Given the description of an element on the screen output the (x, y) to click on. 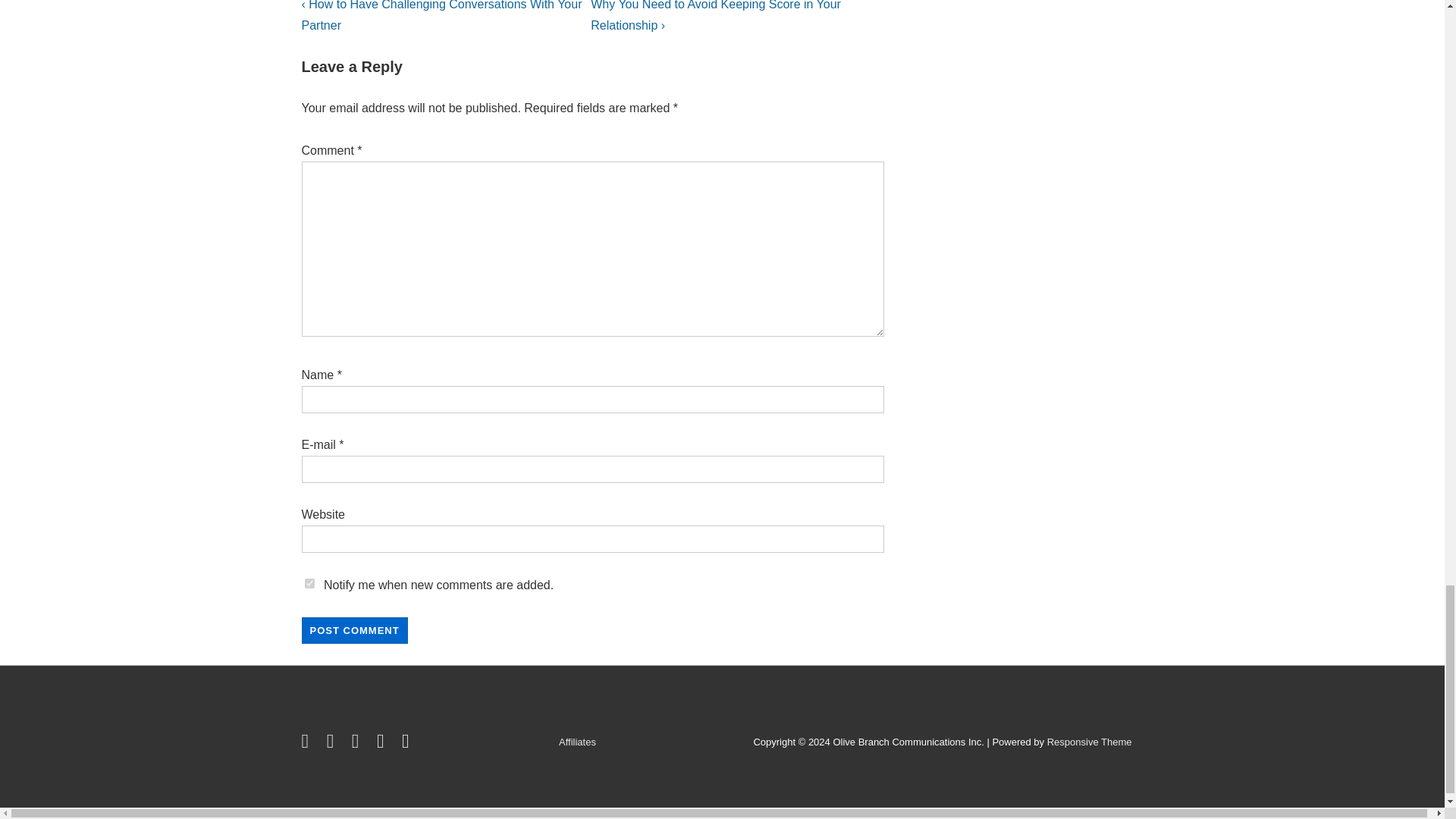
youtube (358, 744)
facebook (333, 744)
1 (309, 583)
twitter (308, 744)
Post Comment (354, 630)
